Given the description of an element on the screen output the (x, y) to click on. 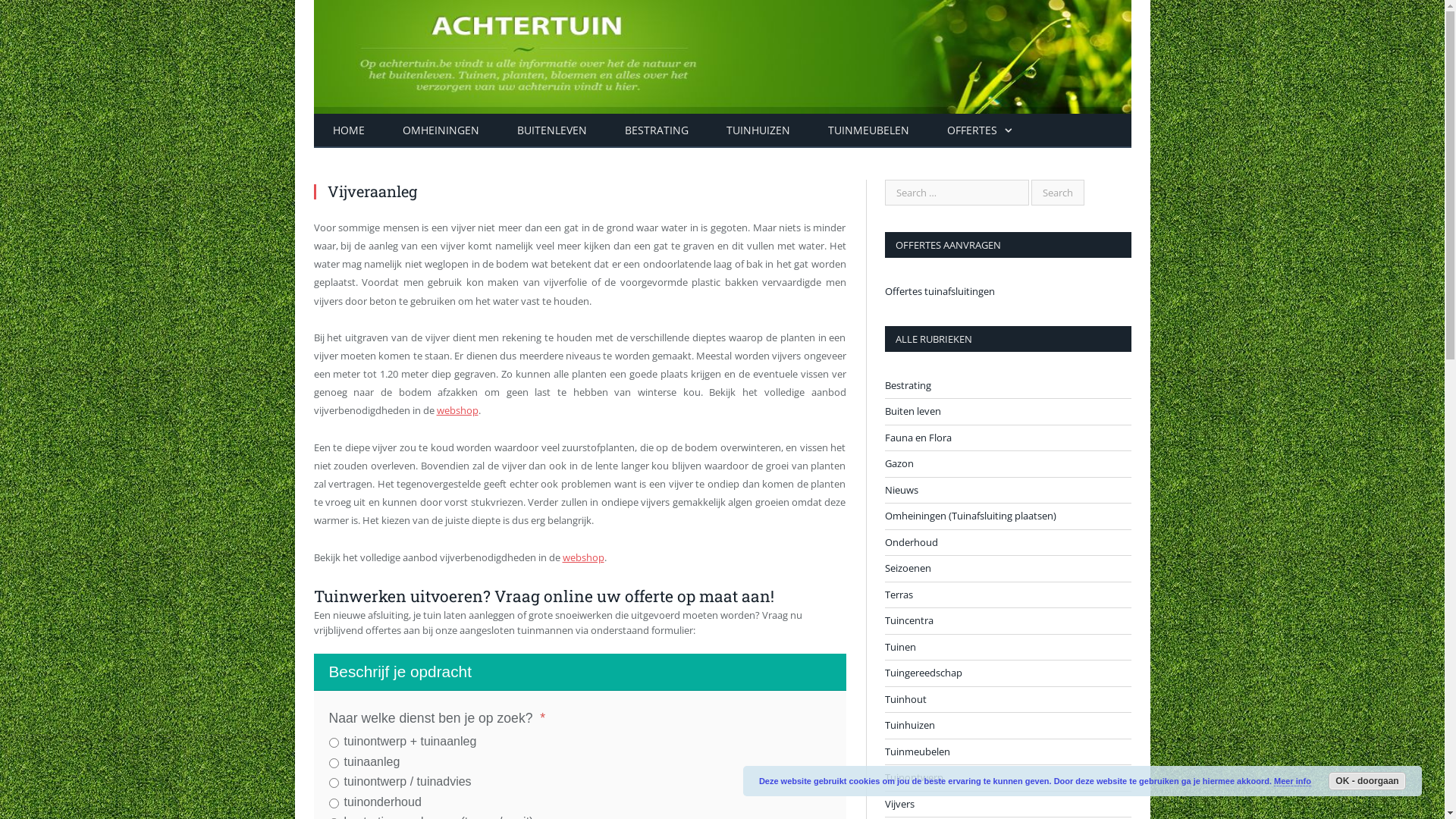
webshop Element type: text (583, 557)
Seizoenen Element type: text (907, 568)
Onderhoud Element type: text (910, 542)
Meer info Element type: text (1292, 781)
Tuincentra Element type: text (908, 620)
Offertes tuinafsluitingen Element type: text (939, 291)
OMHEININGEN Element type: text (440, 130)
BUITENLEVEN Element type: text (551, 130)
Omheiningen (Tuinafsluiting plaatsen) Element type: text (969, 516)
Achtertuin.be Element type: hover (722, 53)
Terras Element type: text (898, 594)
Gazon Element type: text (898, 463)
Tuinhout Element type: text (904, 698)
Vijvers Element type: text (898, 803)
Buiten leven Element type: text (912, 411)
TUINHUIZEN Element type: text (757, 130)
Tuinmeubelen Element type: text (916, 751)
webshop Element type: text (457, 410)
Search Element type: text (1057, 192)
HOME Element type: text (348, 130)
BESTRATING Element type: text (655, 130)
OFFERTES Element type: text (979, 130)
TUINMEUBELEN Element type: text (867, 130)
Tuingereedschap Element type: text (922, 672)
Fauna en Flora Element type: text (917, 437)
Tuinhuizen Element type: text (909, 725)
Bestrating Element type: text (907, 384)
Tuinontwerp Element type: text (913, 777)
OK - doorgaan Element type: text (1366, 780)
Tuinen Element type: text (899, 647)
Nieuws Element type: text (900, 489)
